Given the description of an element on the screen output the (x, y) to click on. 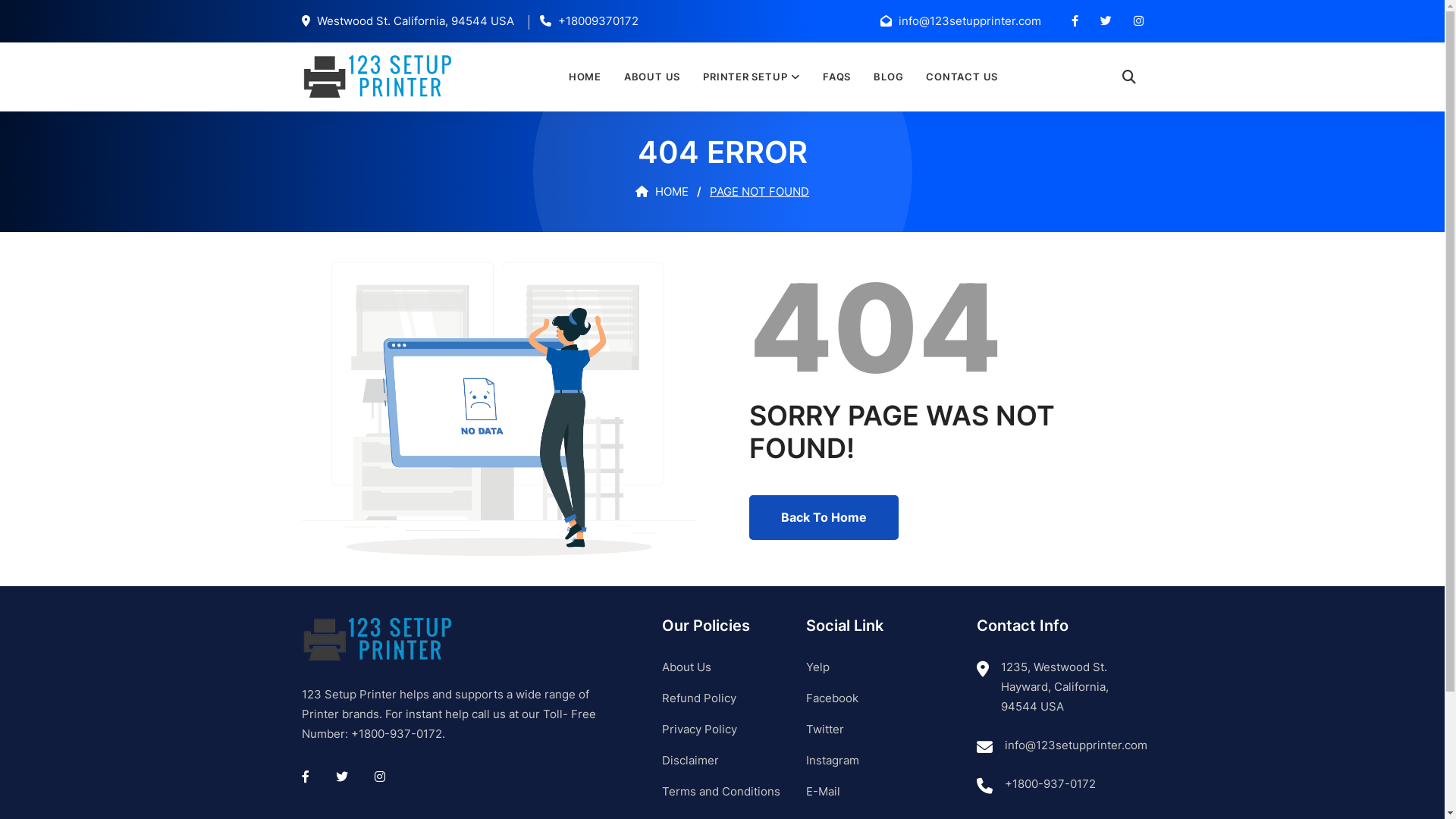
HOME Element type: text (584, 76)
info@123setupprinter.com Element type: text (1075, 745)
CONTACT US Element type: text (961, 76)
PRINTER SETUP Element type: text (751, 76)
BLOG Element type: text (888, 76)
ABOUT US Element type: text (651, 76)
FAQS Element type: text (836, 76)
E-Mail Element type: text (822, 791)
Terms and Conditions Element type: text (720, 791)
Yelp Element type: text (816, 666)
Privacy Policy Element type: text (698, 728)
Disclaimer Element type: text (689, 760)
Facebook Element type: text (831, 697)
Refund Policy Element type: text (698, 697)
About Us Element type: text (685, 666)
Back To Home Element type: text (823, 517)
HOME Element type: text (661, 191)
Instagram Element type: text (831, 760)
Twitter Element type: text (824, 728)
